Given the description of an element on the screen output the (x, y) to click on. 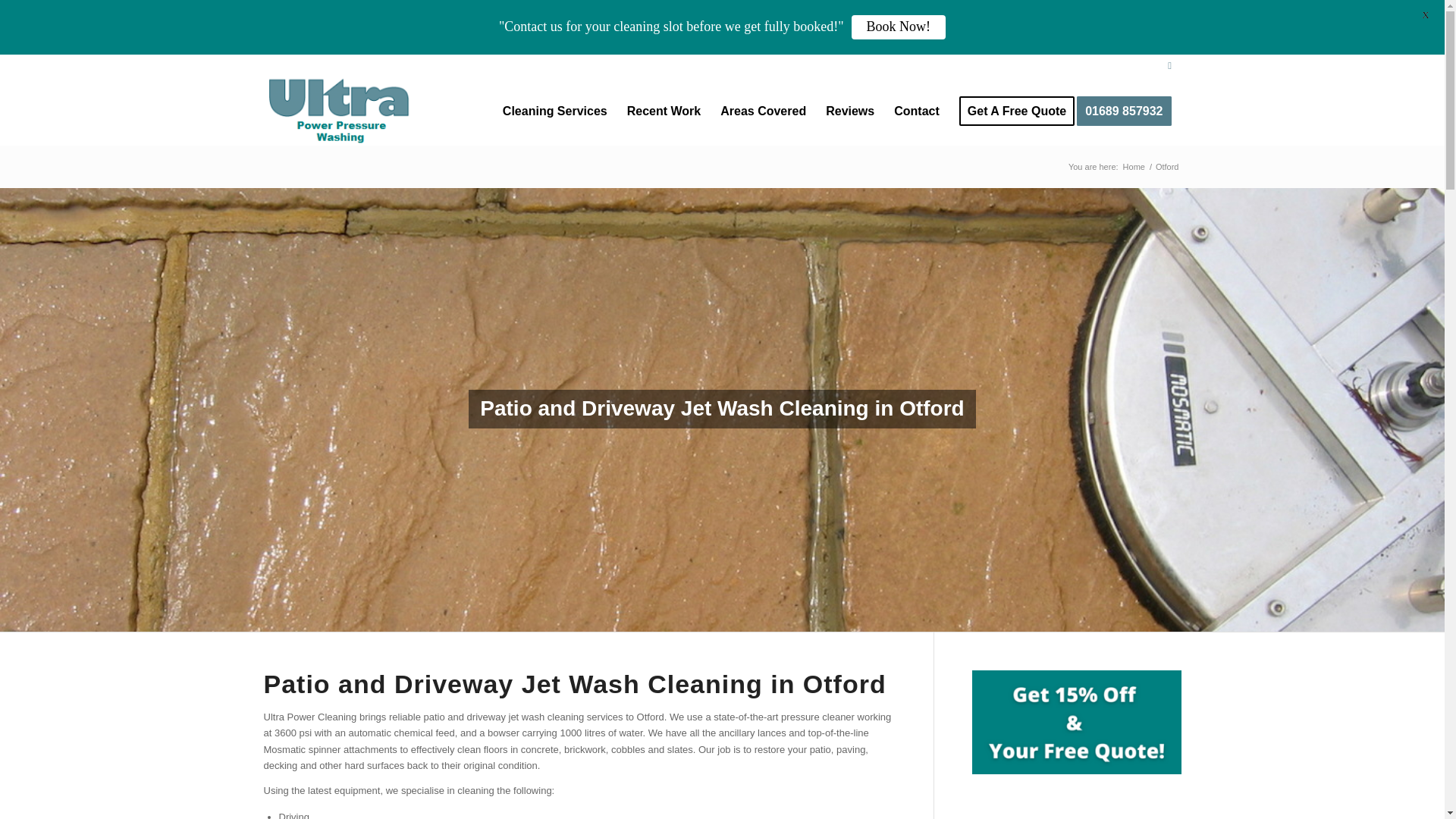
Areas Covered (762, 110)
new ultra power logo (339, 110)
Cleaning Services (555, 110)
Facebook (1169, 65)
Ultra Power Cleaning (1134, 166)
Recent Work (664, 110)
